Given the description of an element on the screen output the (x, y) to click on. 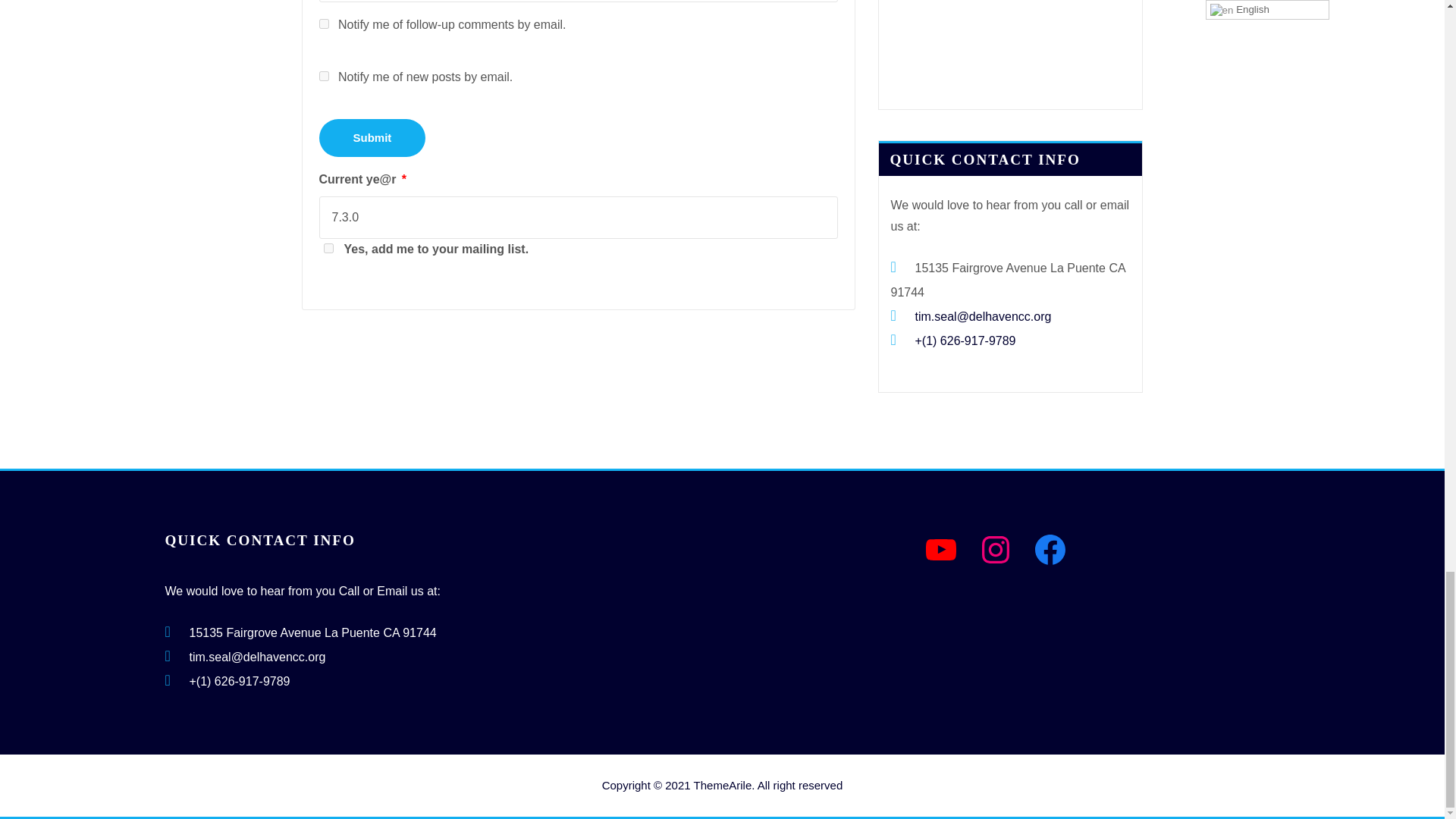
1 (327, 248)
Submit (371, 137)
7.3.0 (577, 217)
subscribe (323, 76)
subscribe (323, 23)
